Given the description of an element on the screen output the (x, y) to click on. 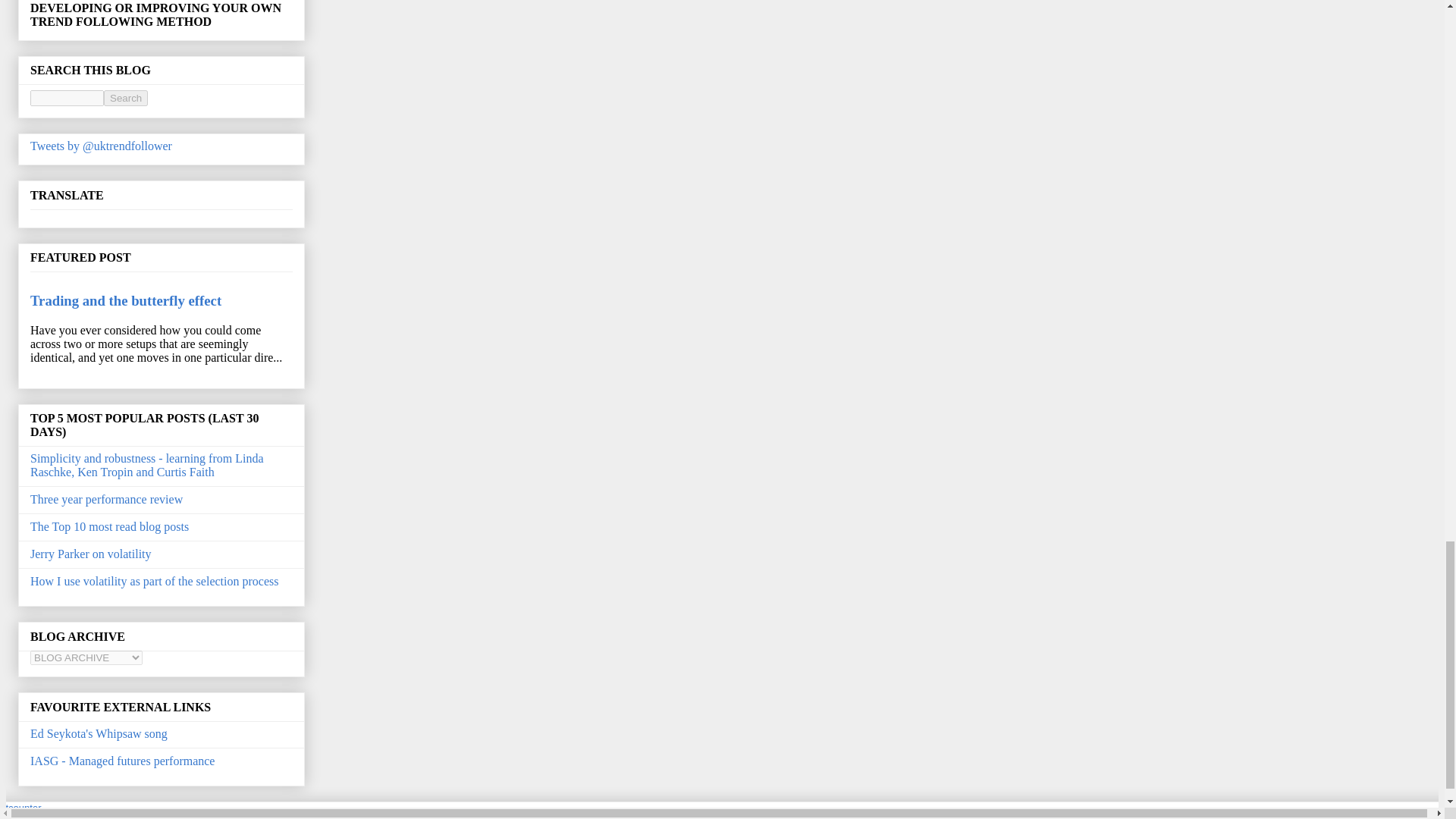
How I use volatility as part of the selection process (154, 581)
search (125, 98)
search (66, 98)
Jerry Parker on volatility (90, 553)
Three year performance review (106, 499)
Ed Seykota's Whipsaw song (98, 732)
Search (125, 98)
The Top 10 most read blog posts (109, 526)
Search (125, 98)
Search (125, 98)
Statcounter (21, 808)
Trading and the butterfly effect (125, 300)
IASG - Managed futures performance (122, 759)
